Given the description of an element on the screen output the (x, y) to click on. 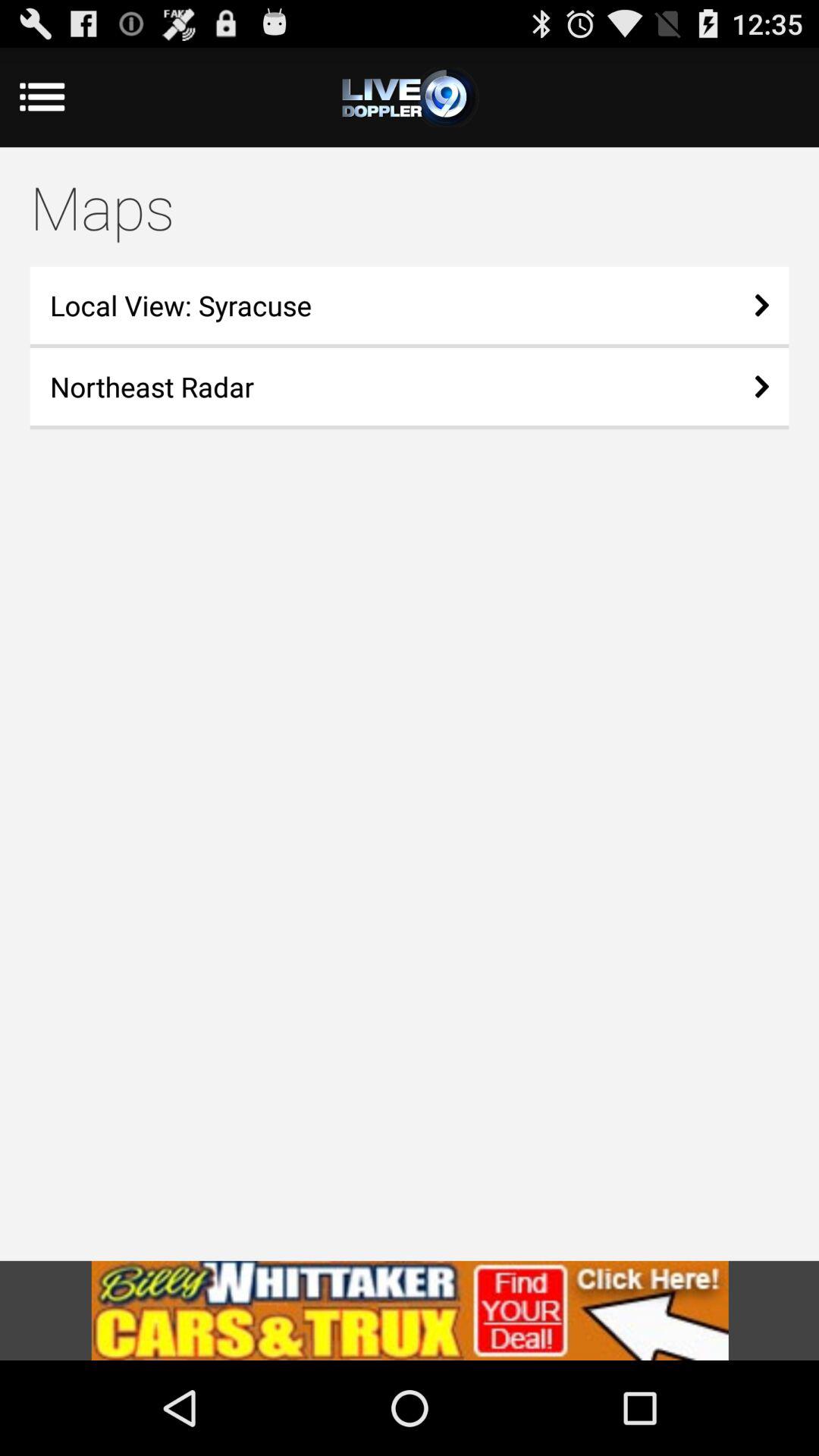
choose item at the bottom (409, 1310)
